Given the description of an element on the screen output the (x, y) to click on. 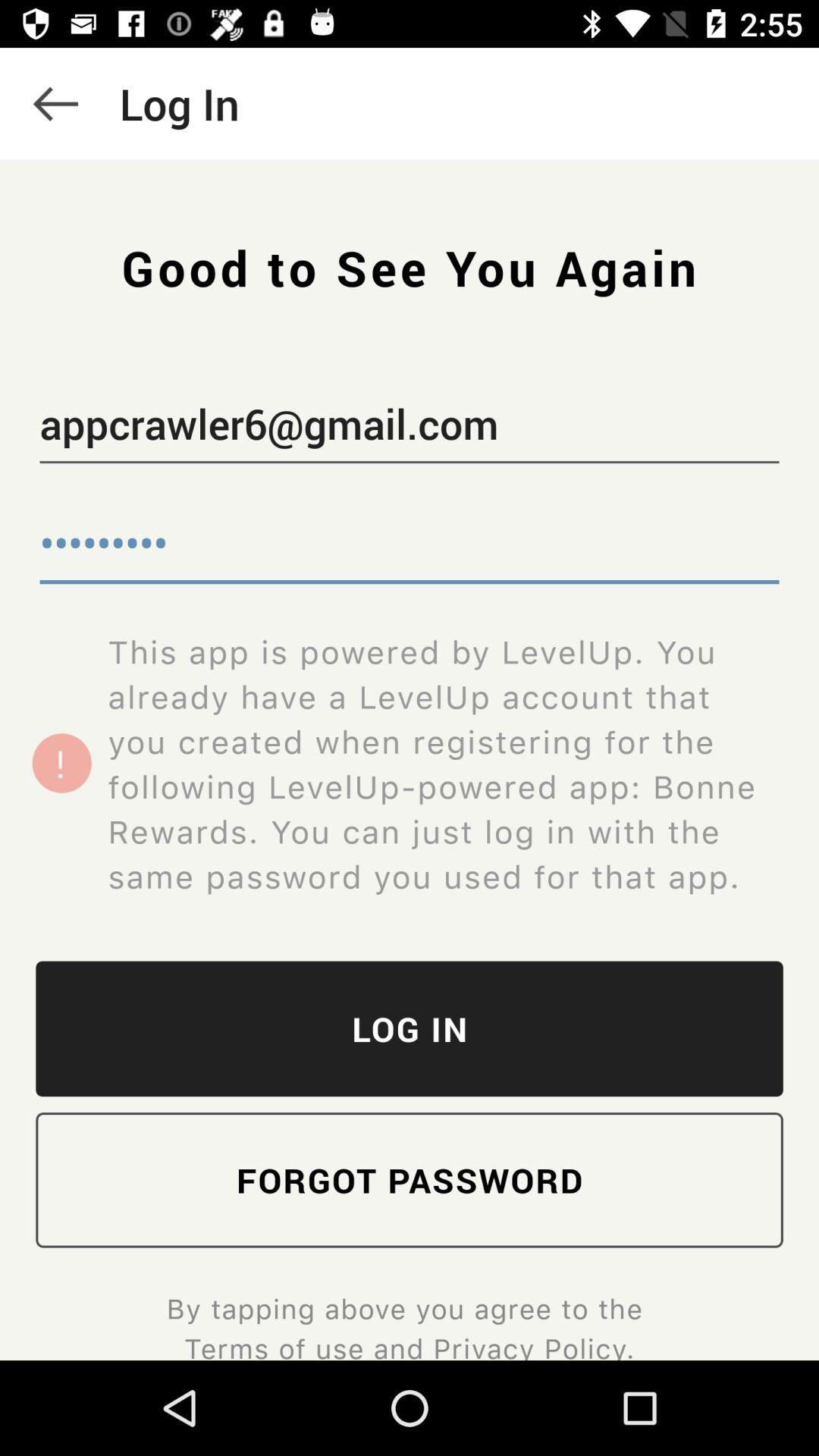
turn on by tapping above icon (408, 1324)
